Given the description of an element on the screen output the (x, y) to click on. 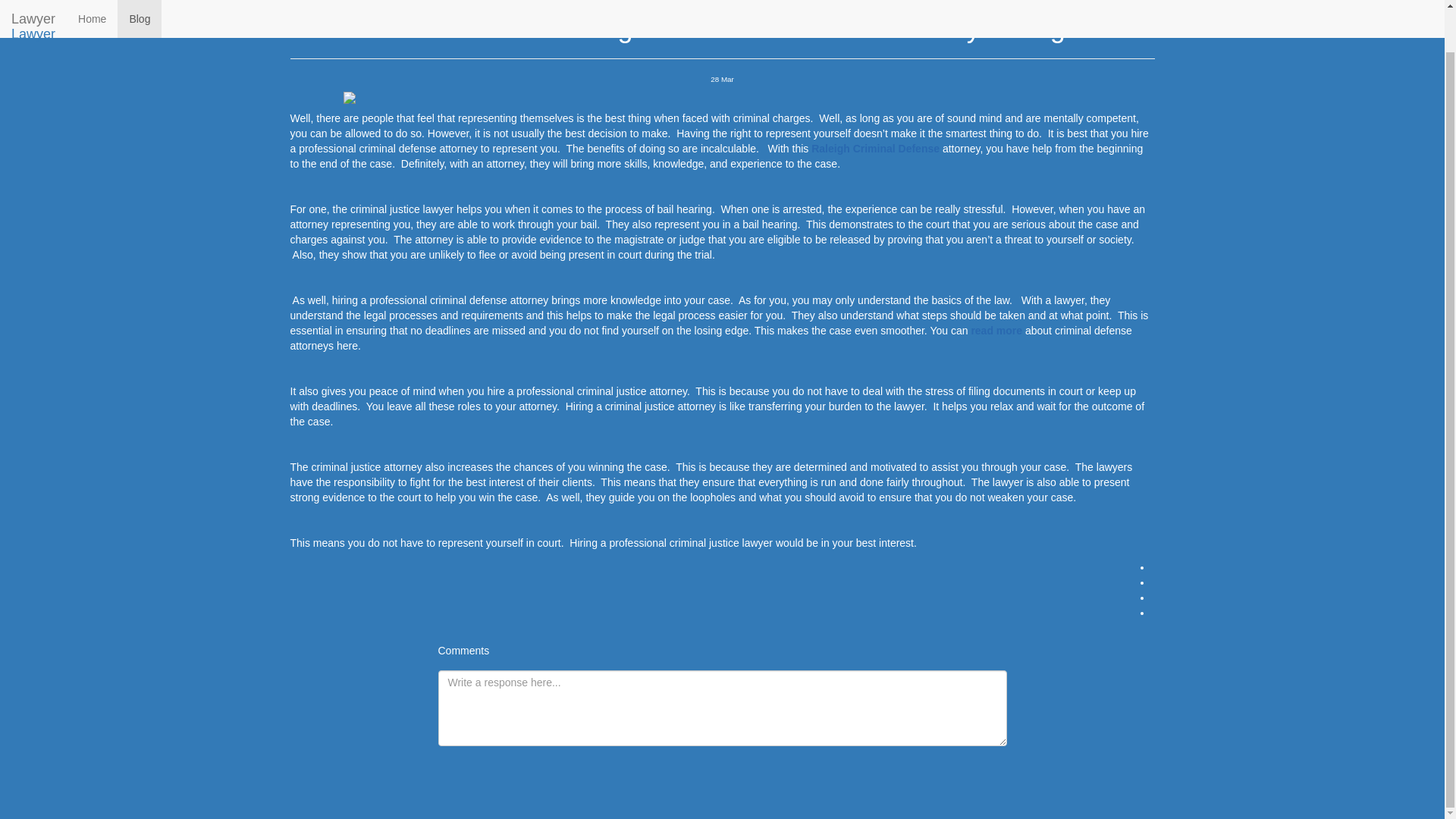
Raleigh Criminal Defense (965, 210)
Home (50, 43)
read more (1046, 367)
Blog (47, 57)
Lawyer (24, 18)
